Given the description of an element on the screen output the (x, y) to click on. 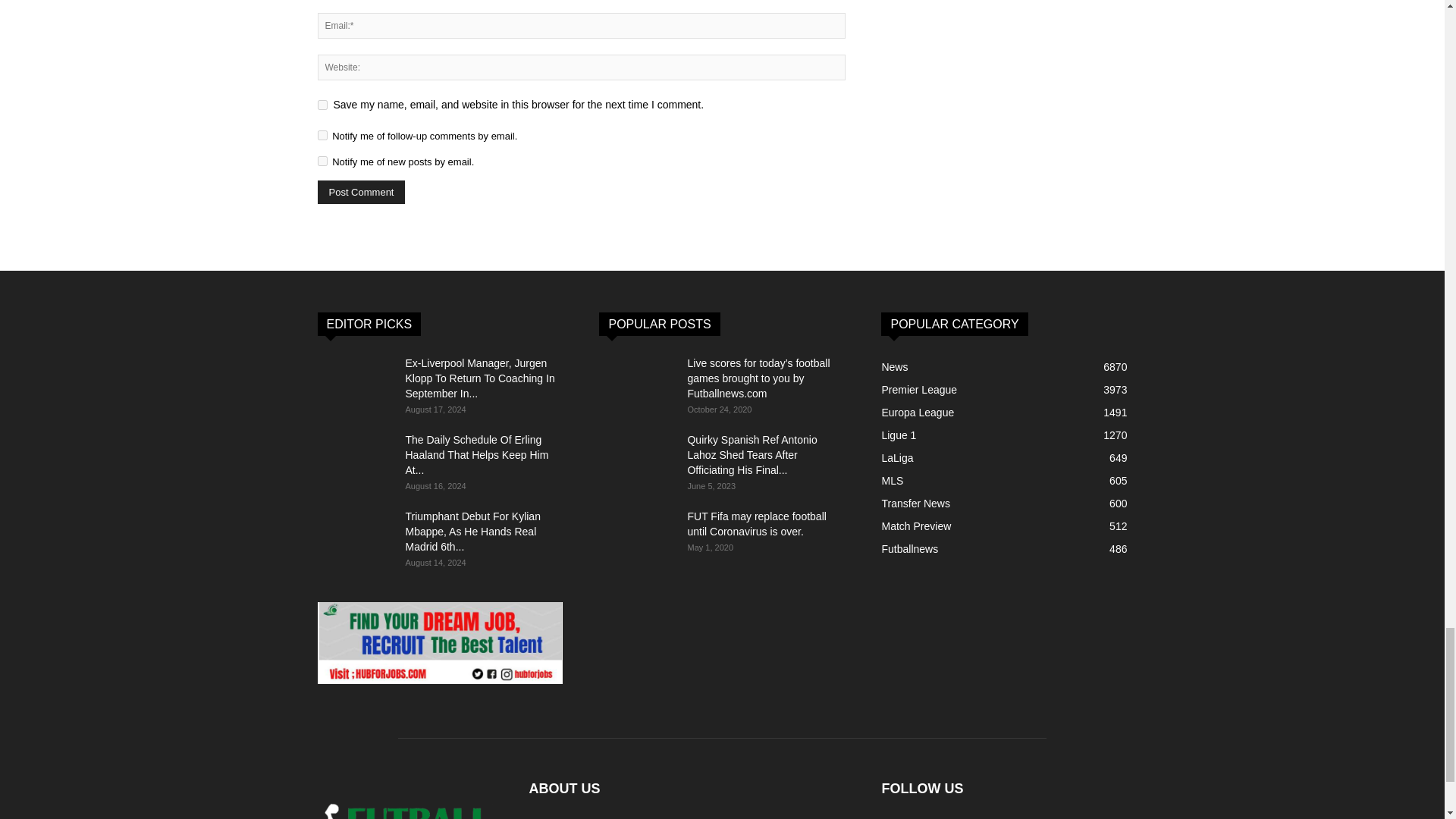
subscribe (321, 161)
yes (321, 104)
Post Comment (360, 191)
subscribe (321, 135)
